Given the description of an element on the screen output the (x, y) to click on. 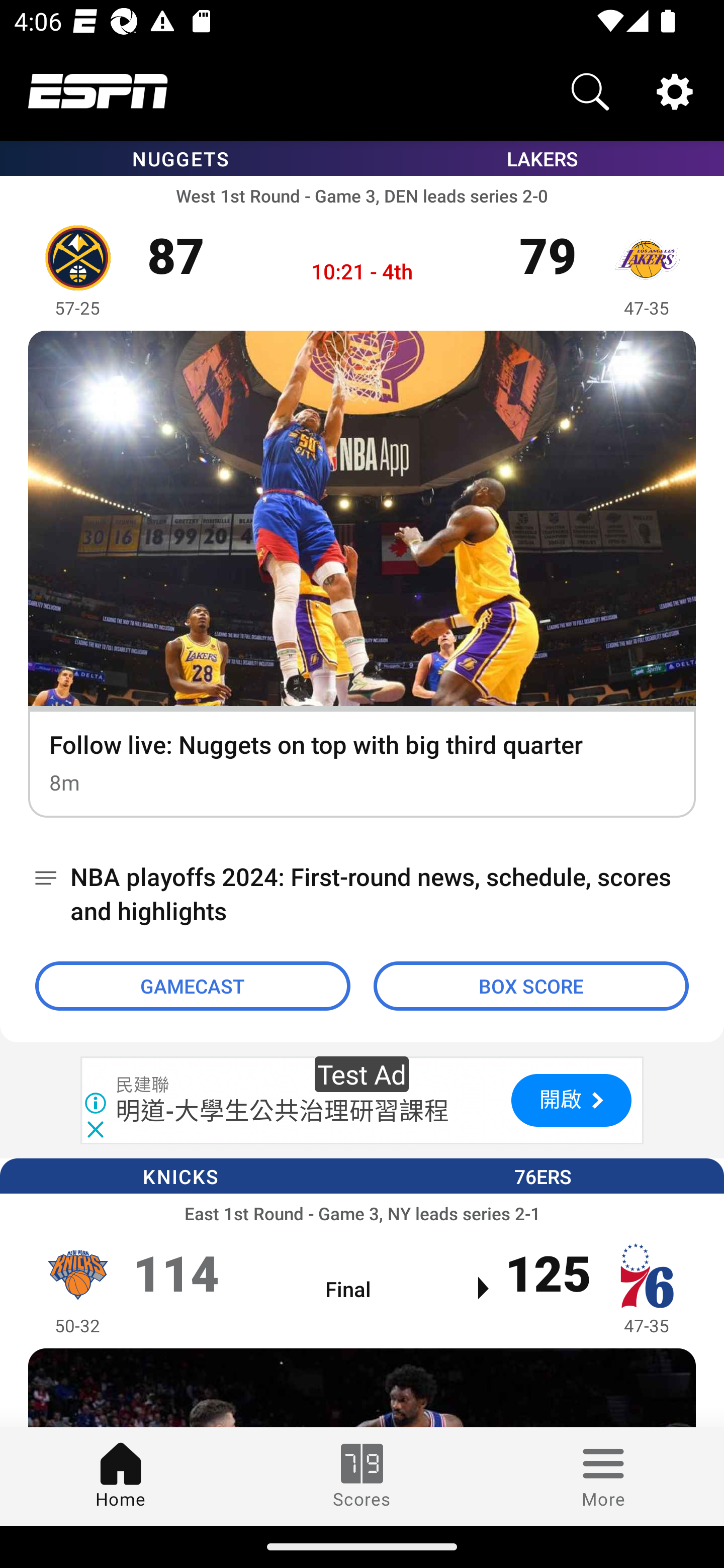
Search (590, 90)
Settings (674, 90)
GAMECAST (192, 986)
BOX SCORE (530, 986)
Scores (361, 1475)
More (603, 1475)
